Given the description of an element on the screen output the (x, y) to click on. 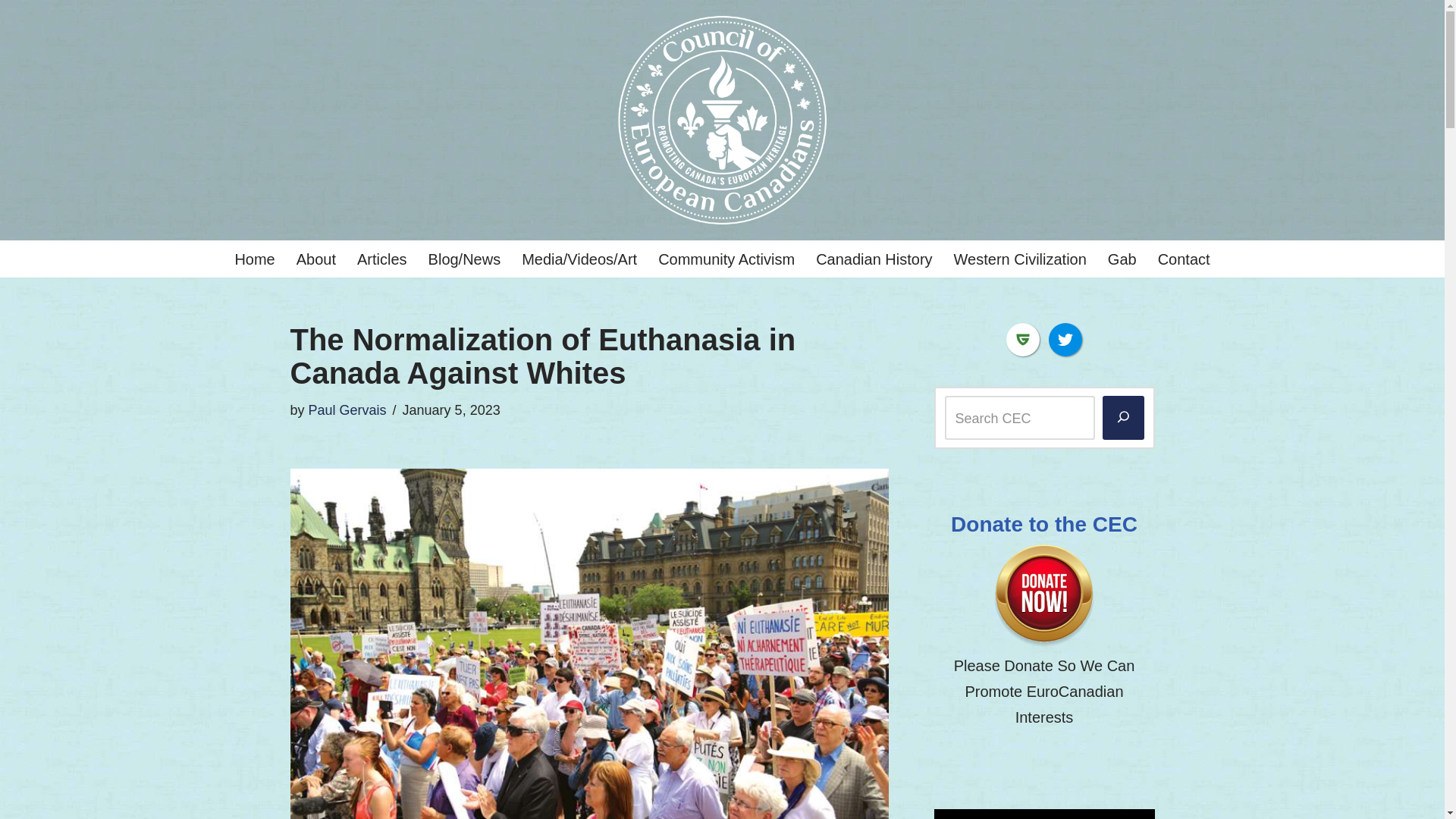
Western Civilization (1019, 258)
Skip to content (11, 31)
Contact (1183, 258)
About (316, 258)
Council of European Canadians (721, 119)
Follow on Twitter (1064, 339)
Home (254, 258)
Visit our Gab feed (1022, 339)
Gab (1122, 258)
Canadian History (873, 258)
Paul Gervais (347, 409)
Community Activism (726, 258)
Articles (381, 258)
Posts by Paul Gervais (347, 409)
